Given the description of an element on the screen output the (x, y) to click on. 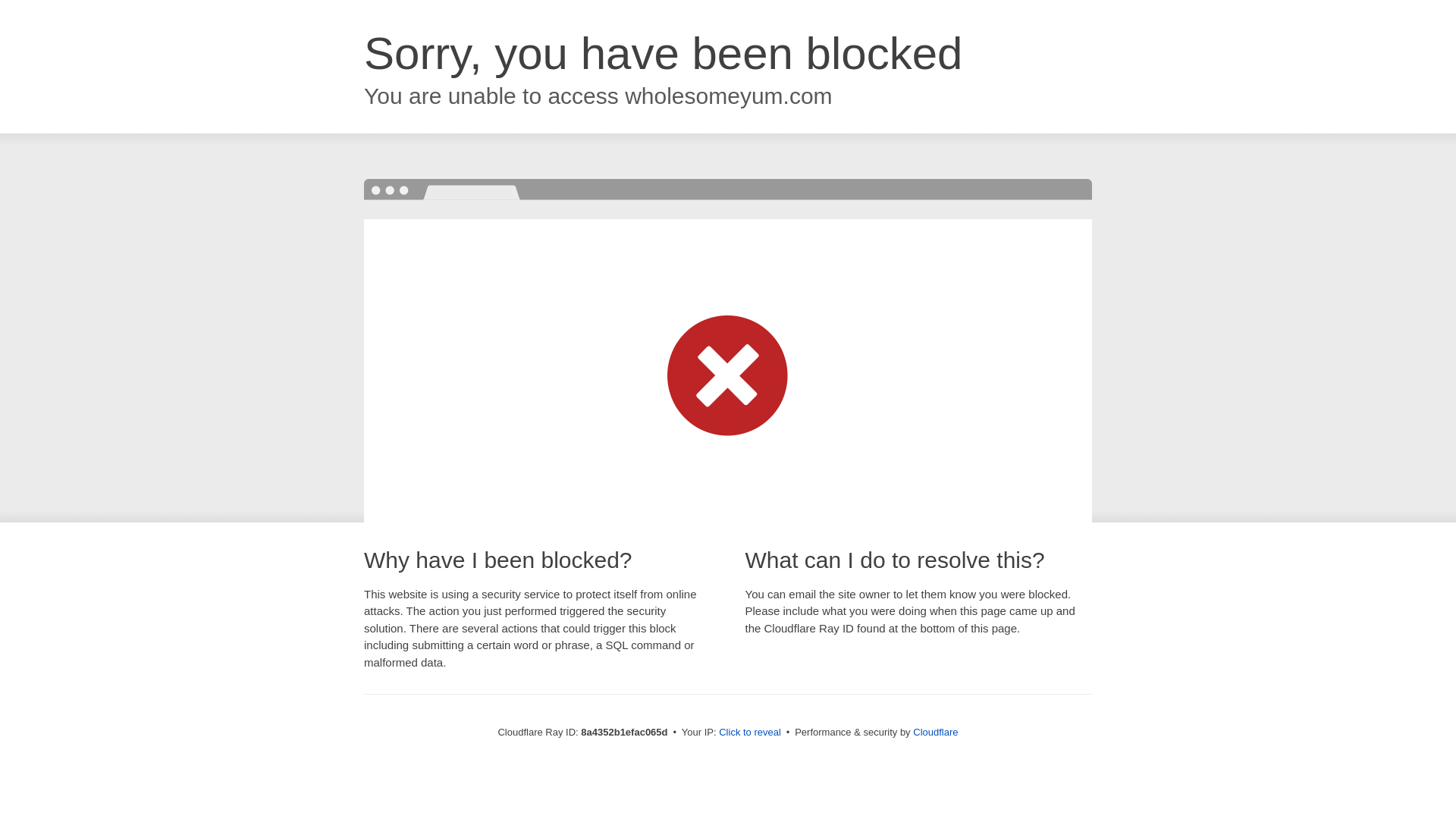
Click to reveal (749, 732)
Cloudflare (935, 731)
